Given the description of an element on the screen output the (x, y) to click on. 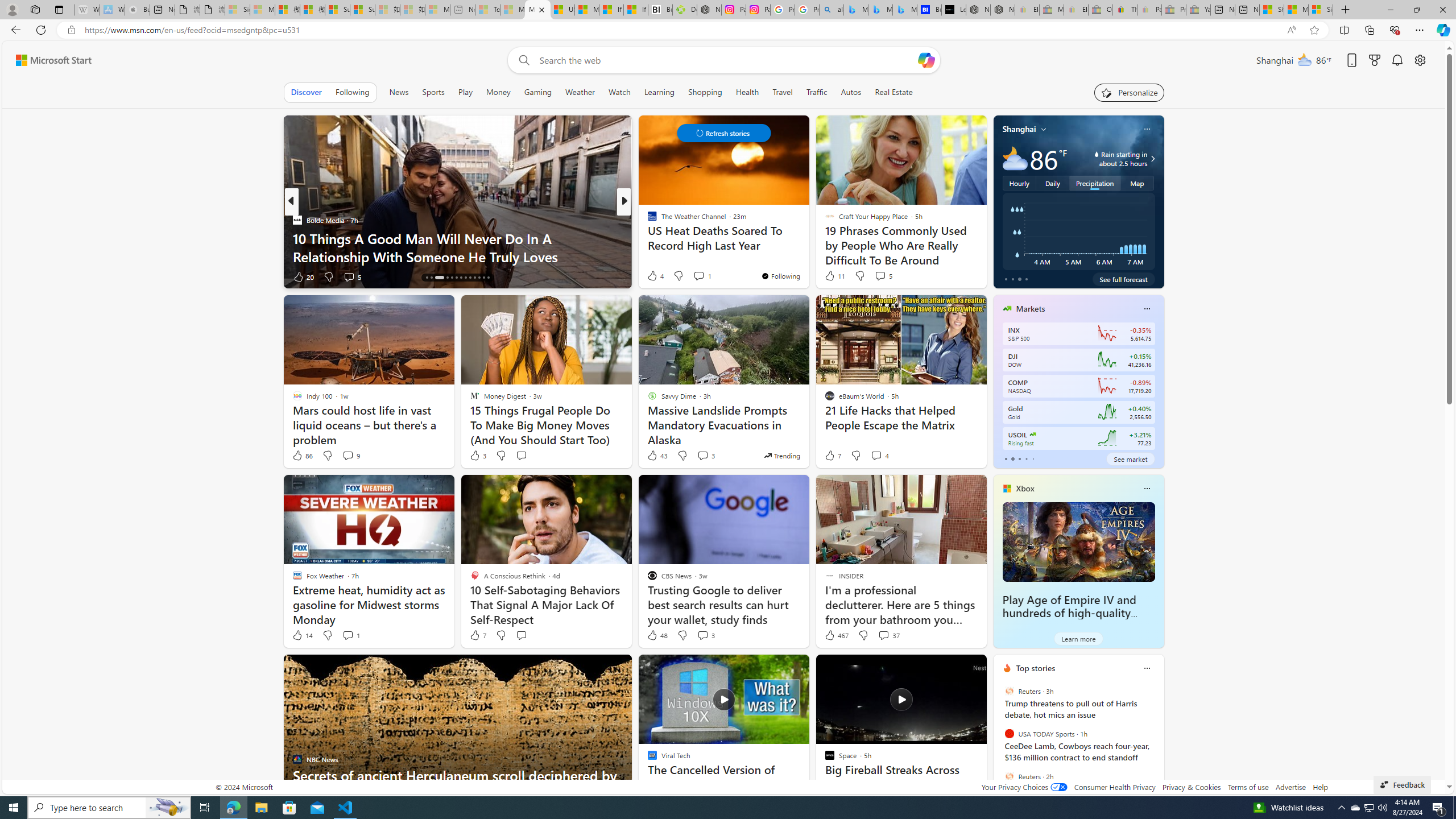
Hourly (1018, 183)
